Given the description of an element on the screen output the (x, y) to click on. 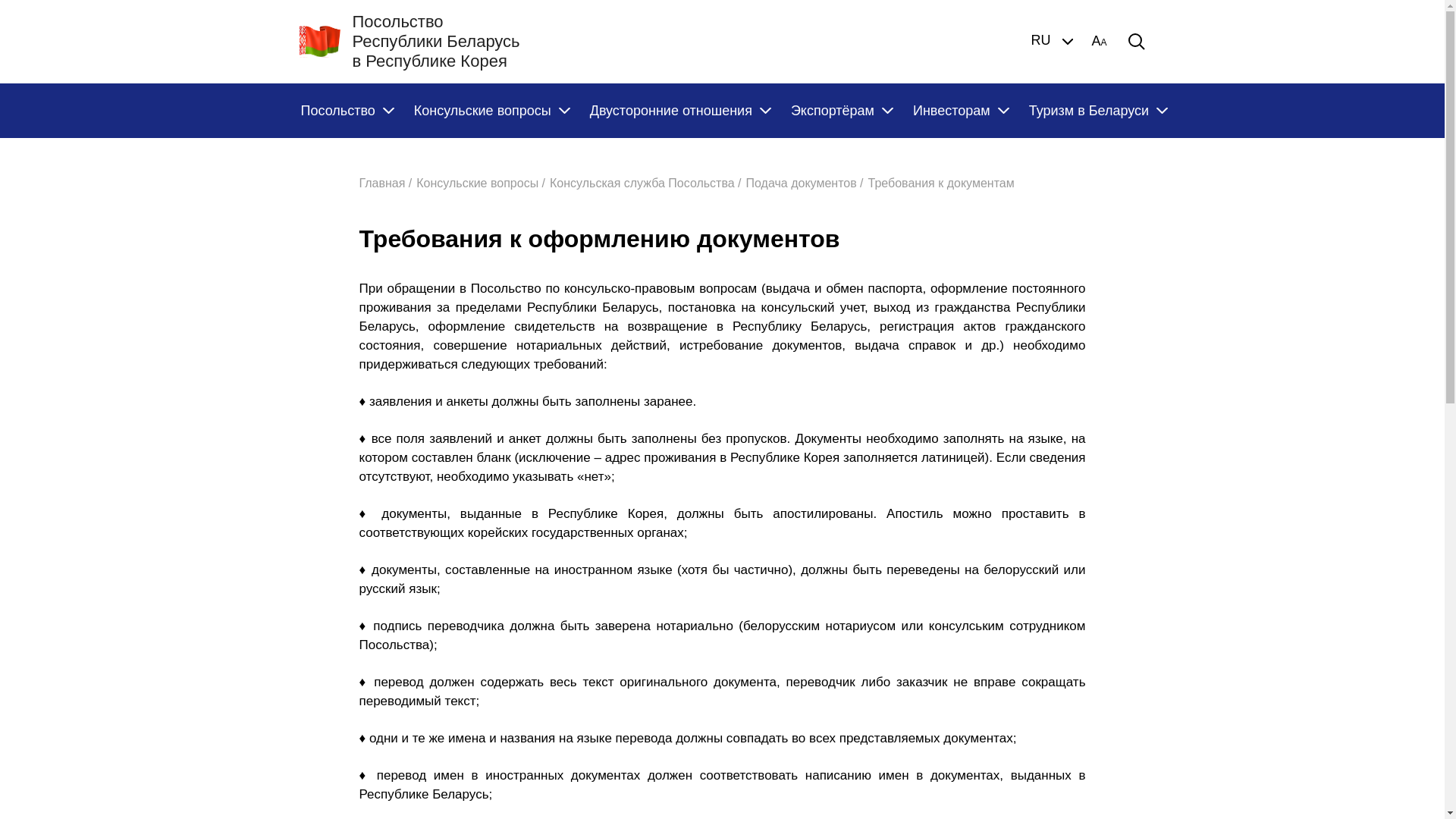
AA Element type: text (1098, 41)
